Given the description of an element on the screen output the (x, y) to click on. 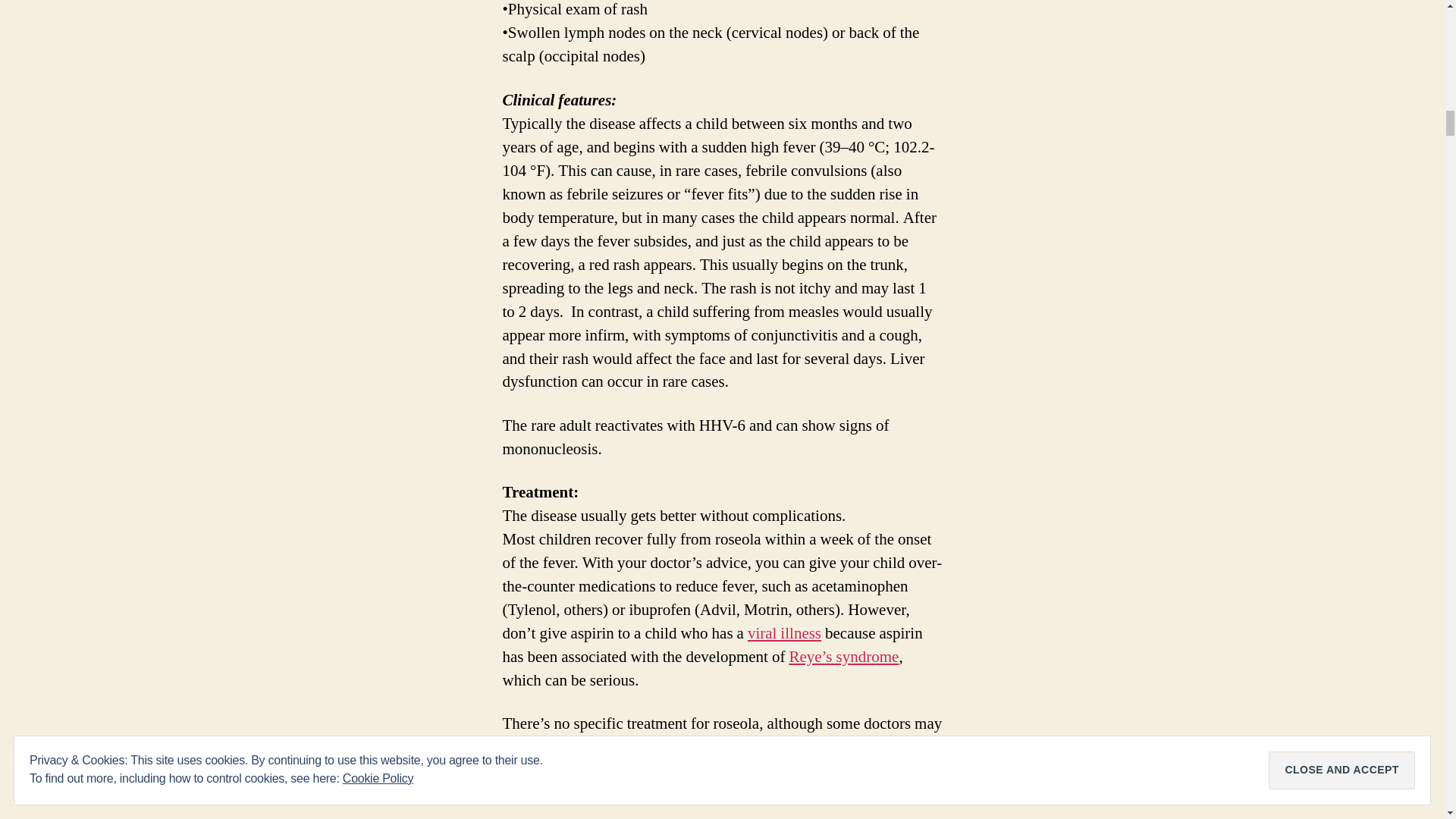
viral illness (784, 633)
Virus (784, 633)
Reye's syndrome (843, 657)
Ganciclovir (829, 747)
Cytovene (829, 747)
